Given the description of an element on the screen output the (x, y) to click on. 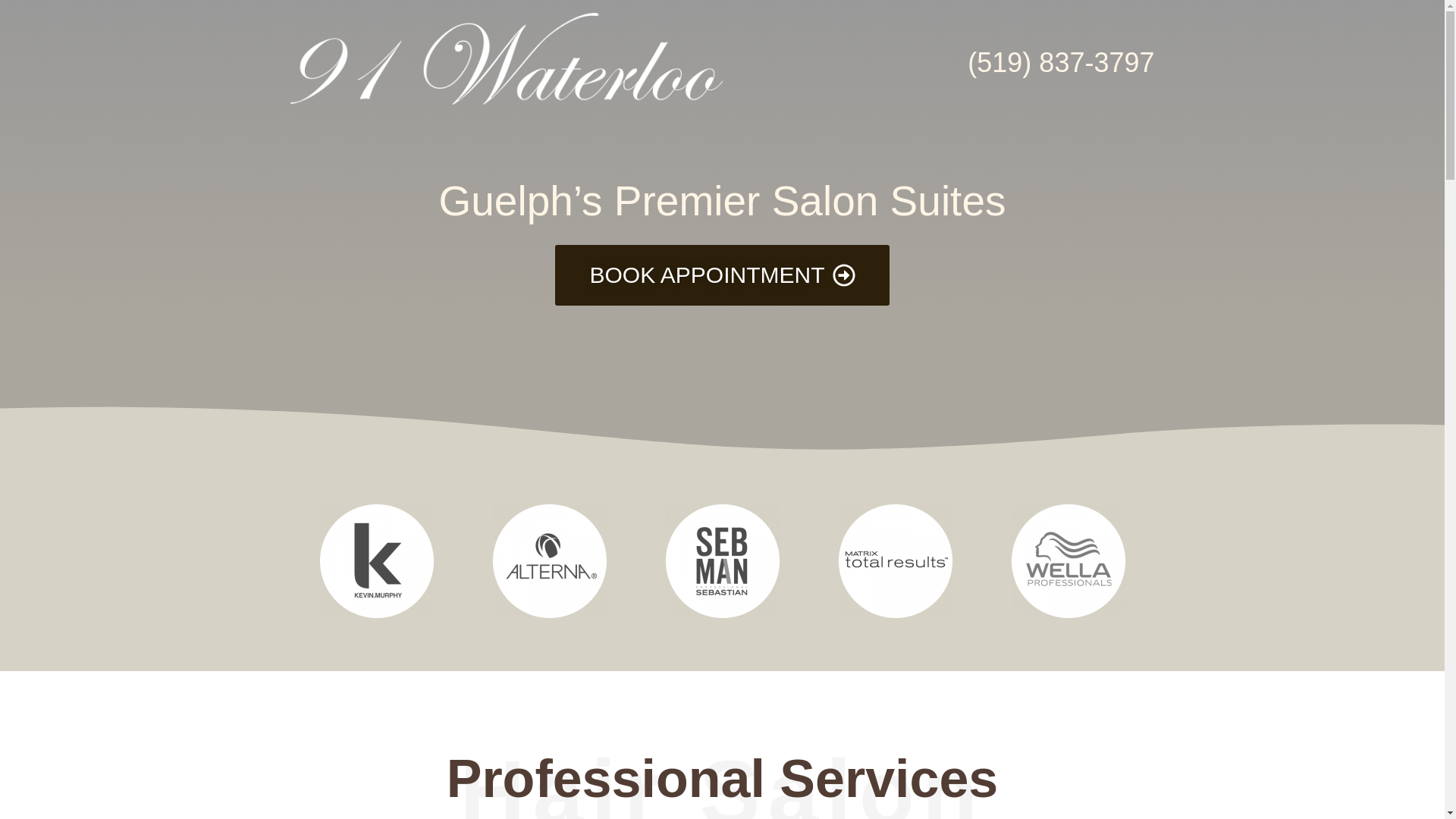
BOOK APPOINTMENT Element type: text (721, 274)
